Given the description of an element on the screen output the (x, y) to click on. 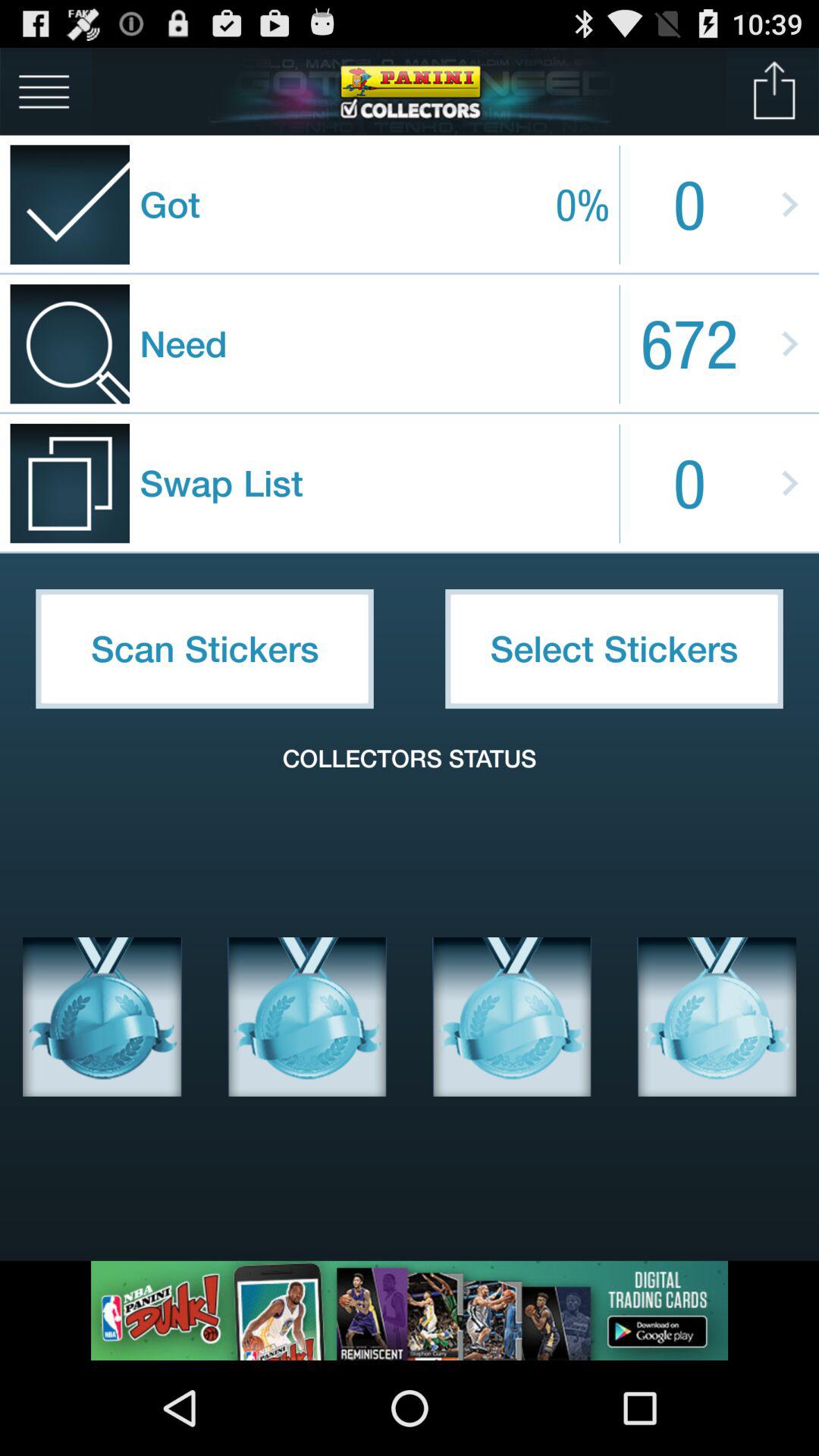
press the icon on the right (614, 648)
